Given the description of an element on the screen output the (x, y) to click on. 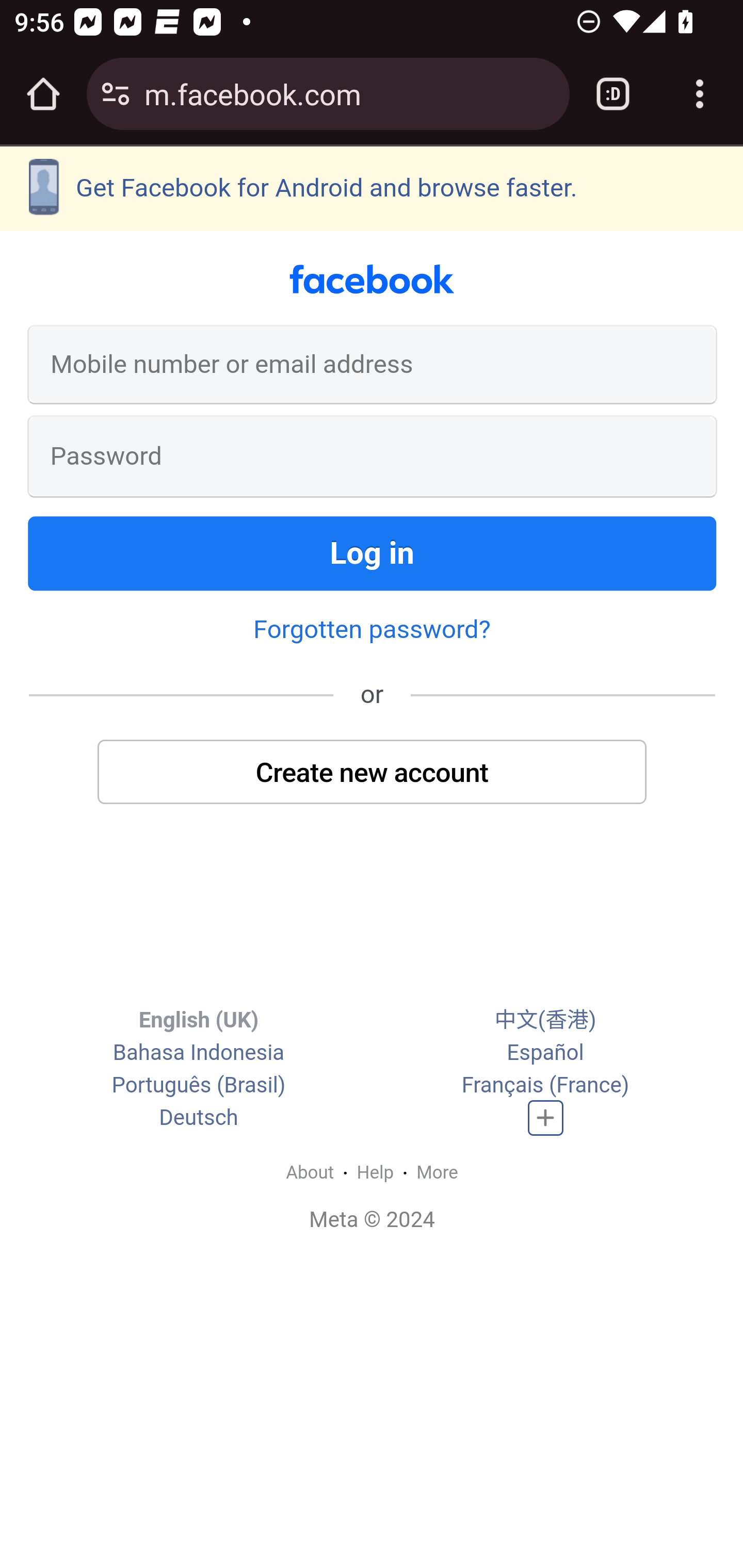
Open the home page (43, 93)
Connection is secure (115, 93)
Switch or close tabs (612, 93)
Customize and control Google Chrome (699, 93)
m.facebook.com (349, 92)
Get Facebook for Android and browse faster. (371, 188)
facebook (372, 279)
Log in (372, 552)
Forgotten password? (371, 628)
Create new account (372, 771)
中文(香港) (544, 1020)
Bahasa Indonesia (198, 1052)
Español (545, 1052)
Português (Brasil) (197, 1085)
Français (France) (544, 1085)
Complete list of languages (545, 1117)
Deutsch (198, 1118)
About (310, 1171)
Help (375, 1171)
